Given the description of an element on the screen output the (x, y) to click on. 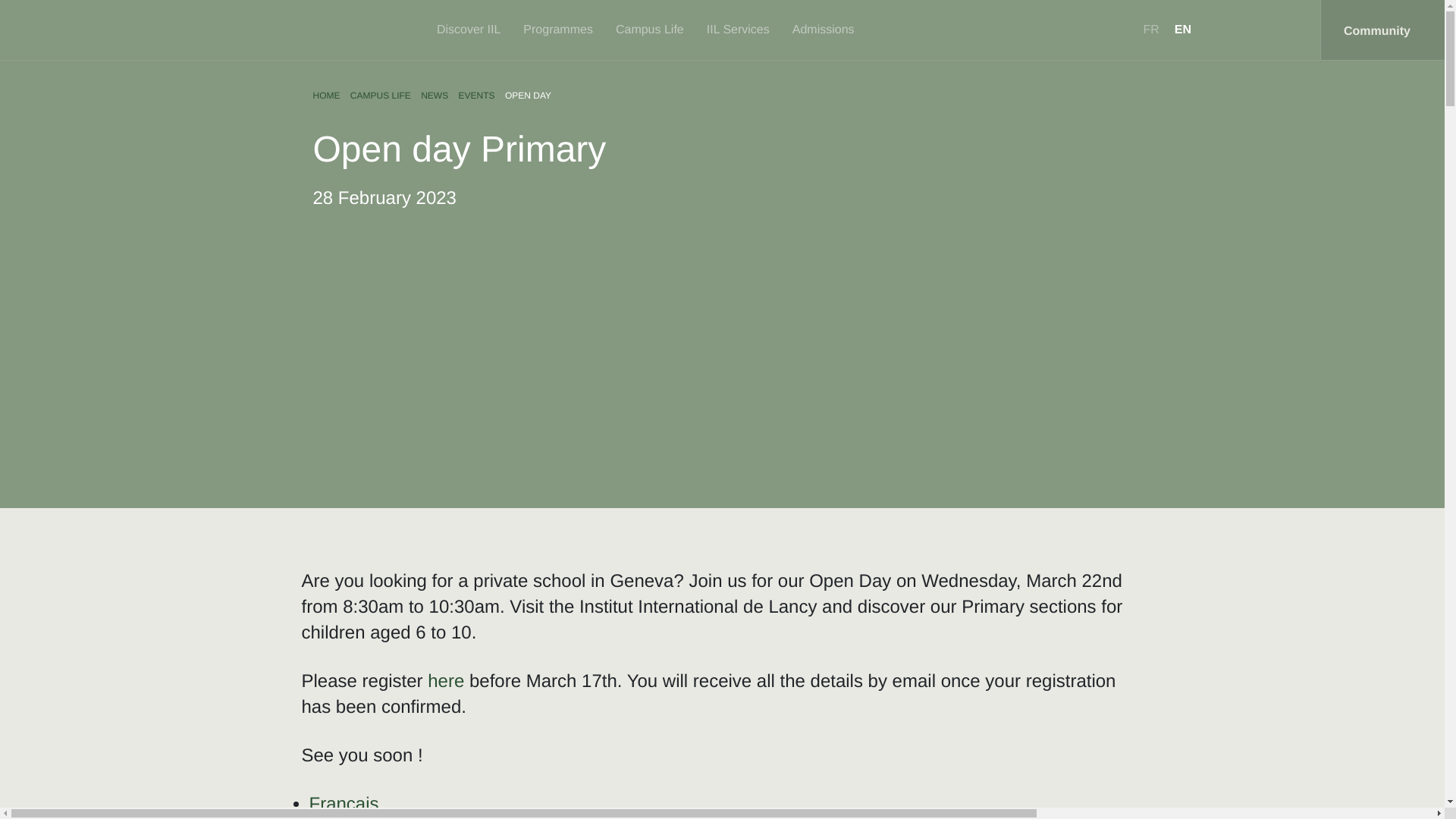
Go to News. (434, 95)
Open SideMenu (1382, 29)
Programmes (561, 30)
IIL Services (741, 30)
Go to the Events category archives. (476, 95)
Campus Life (653, 30)
Discover IIL (472, 30)
Go to Campus Life. (380, 95)
Go to IIL. (326, 95)
